Given the description of an element on the screen output the (x, y) to click on. 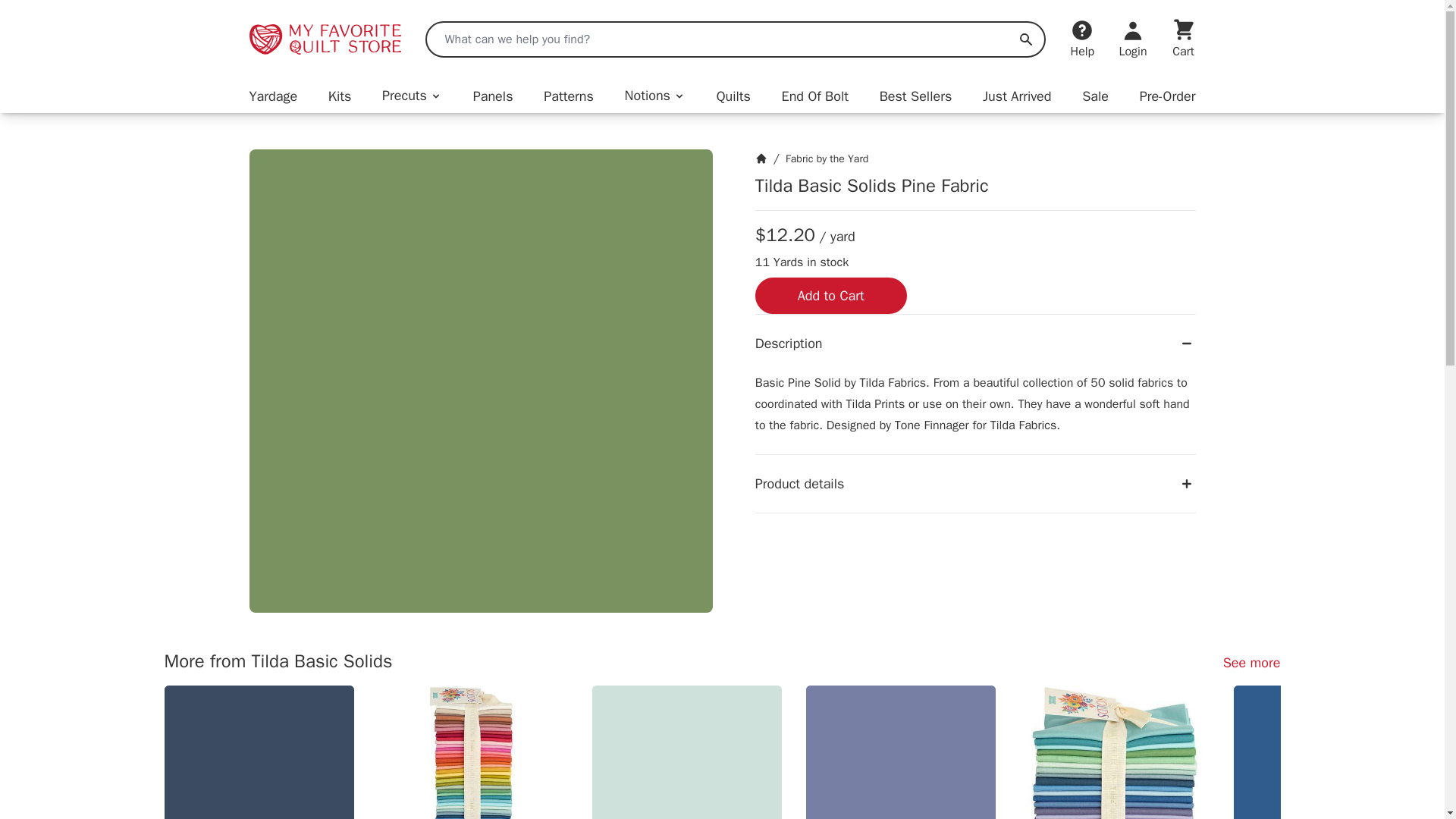
See more (1252, 662)
Notions (654, 96)
My Favorite Quilt Store (324, 39)
Kits (340, 95)
Description (975, 343)
Pre-Order (1167, 95)
Precuts (411, 96)
Precuts (411, 95)
Fabric by the Yard (826, 157)
Quilts (733, 95)
